Given the description of an element on the screen output the (x, y) to click on. 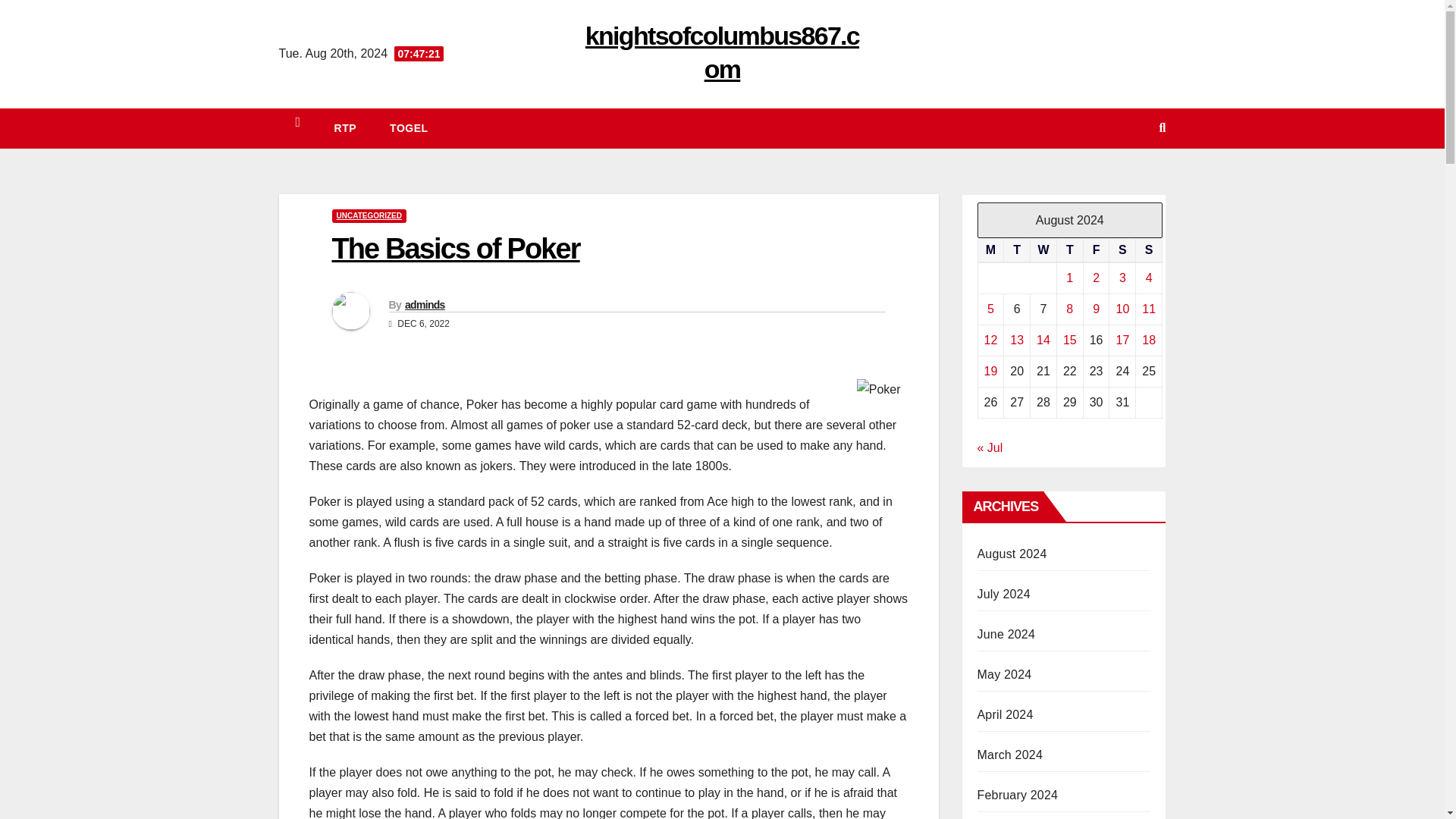
Thursday (1070, 250)
The Basics of Poker (455, 248)
Sunday (1148, 250)
Monday (990, 250)
Togel (408, 128)
Friday (1096, 250)
UNCATEGORIZED (368, 215)
Saturday (1122, 250)
Tuesday (1017, 250)
RTP (345, 128)
